Given the description of an element on the screen output the (x, y) to click on. 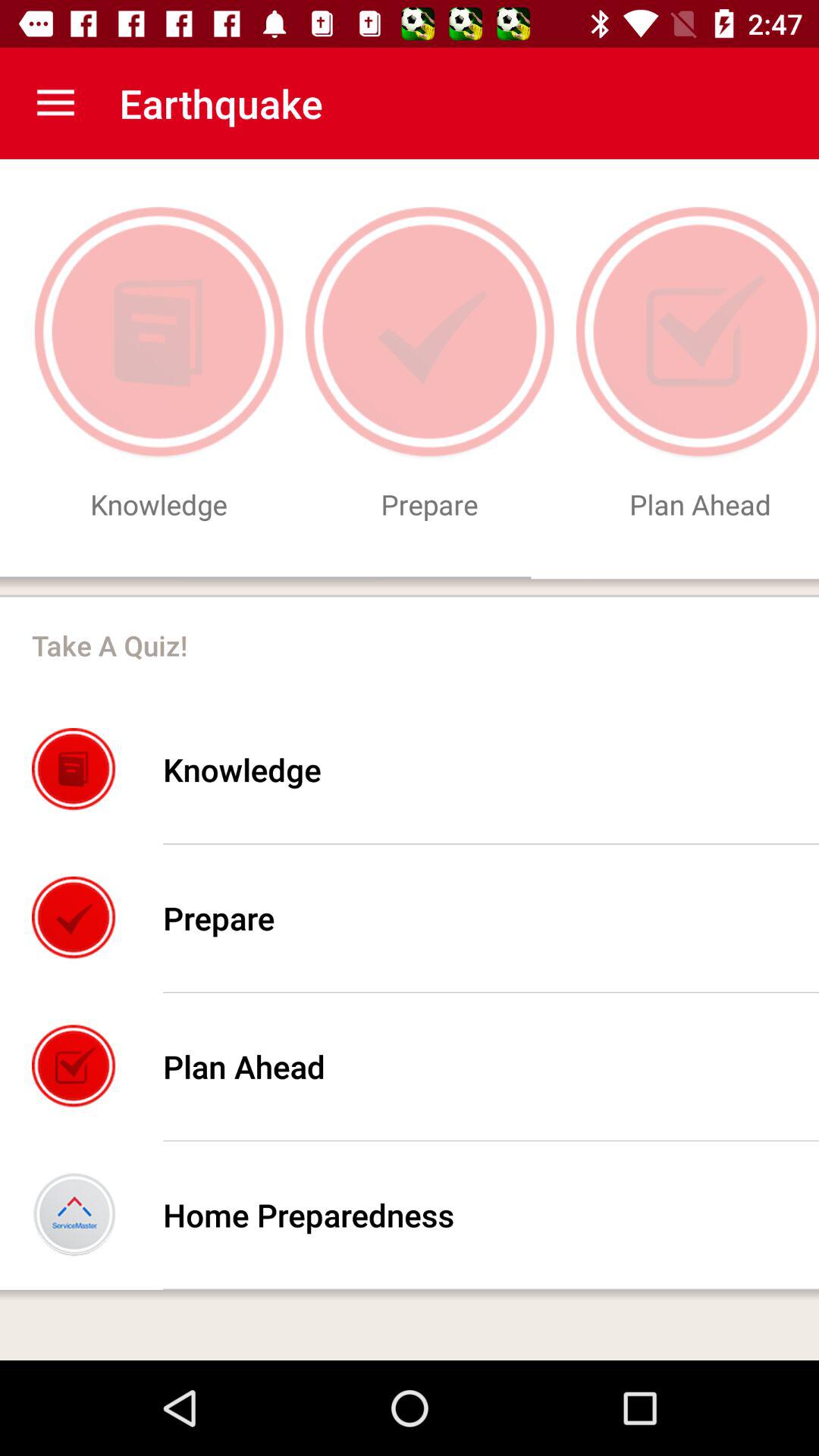
tap item next to the earthquake (55, 103)
